Given the description of an element on the screen output the (x, y) to click on. 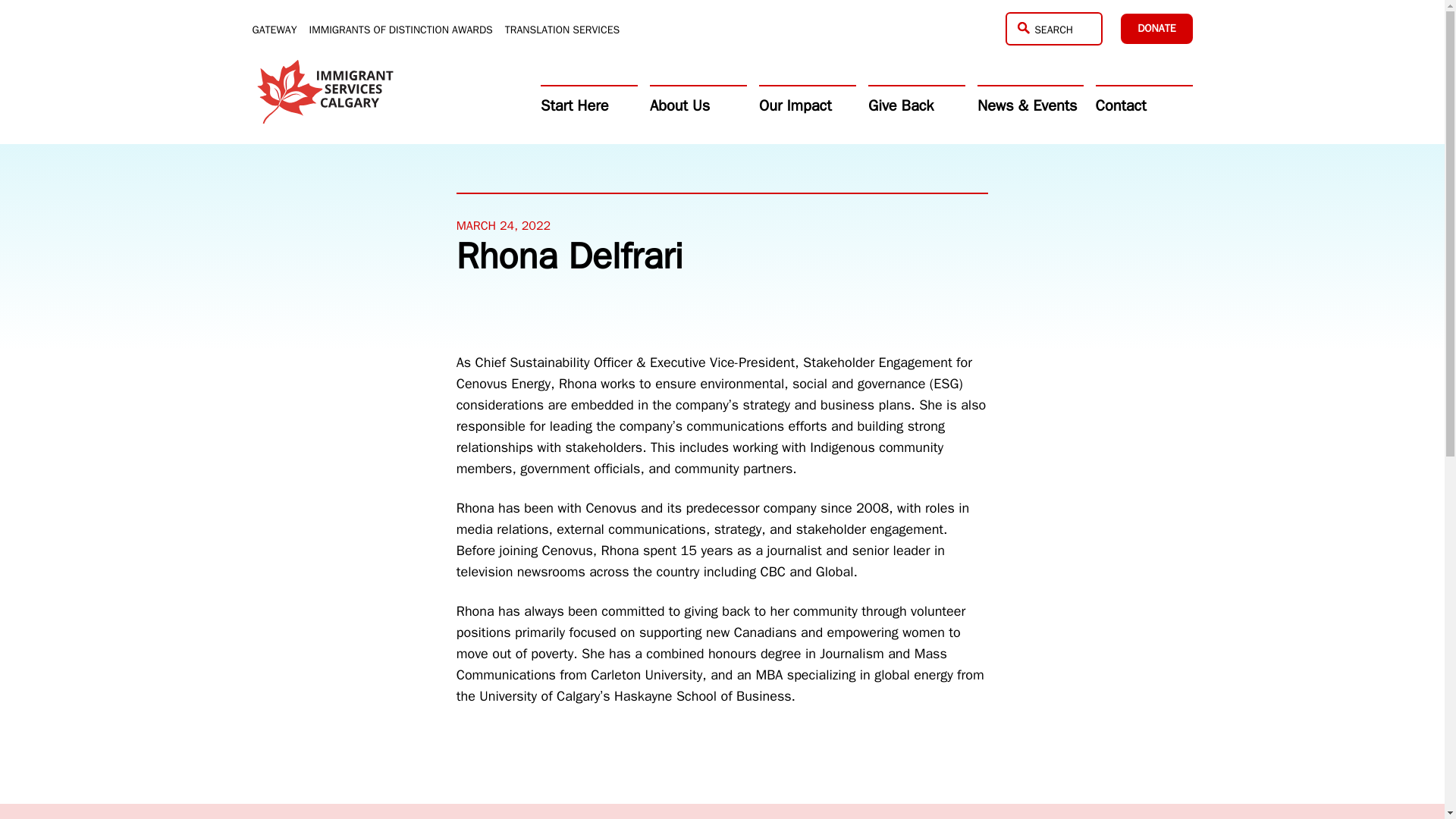
About Us (697, 105)
DONATE (1156, 28)
GATEWAY (274, 29)
IMMIGRANTS OF DISTINCTION AWARDS (400, 29)
Our Impact (807, 105)
Contact (1143, 105)
Give Back (916, 105)
Start Here (588, 105)
TRANSLATION SERVICES (562, 29)
